Given the description of an element on the screen output the (x, y) to click on. 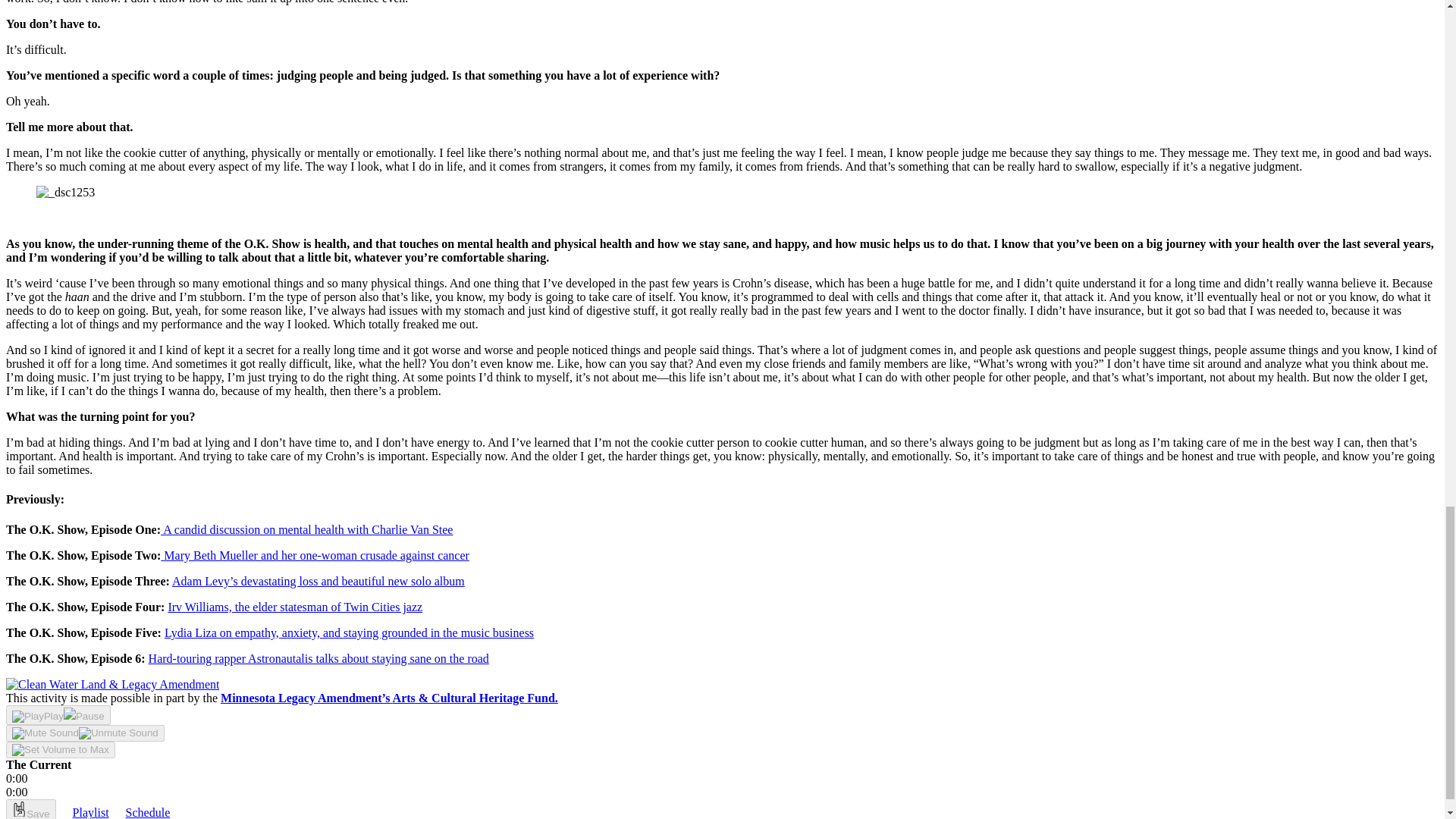
Mary Beth Mueller and her one-woman crusade against cancer (314, 554)
A candid discussion on mental health with Charlie Van Stee (306, 529)
PlayPause (57, 714)
Irv Williams, the elder statesman of Twin Cities jazz (294, 606)
